Given the description of an element on the screen output the (x, y) to click on. 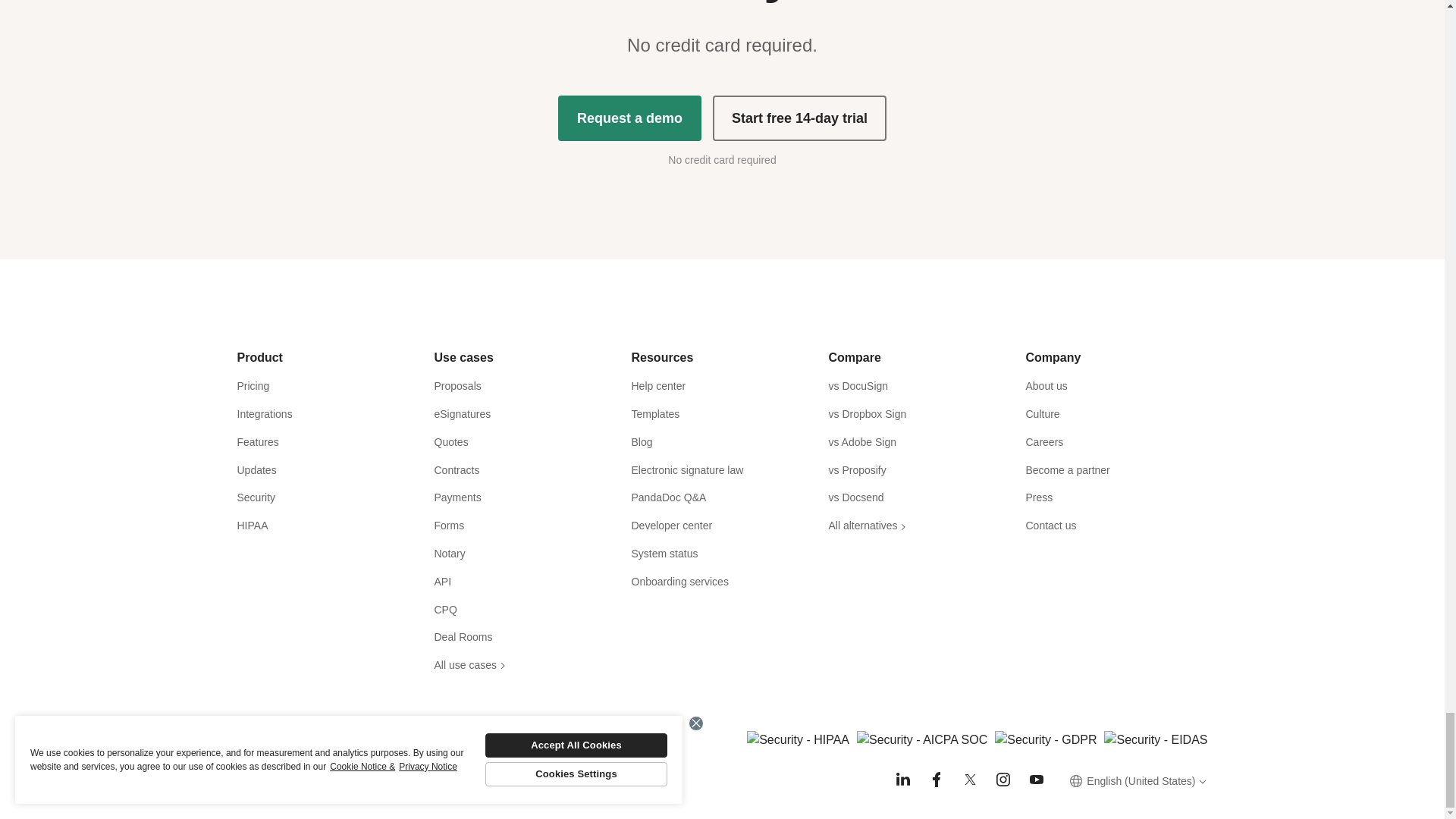
Youtube (1036, 779)
Facebook (935, 779)
LinkedIn (902, 779)
Twitter (969, 779)
Instagram (1002, 779)
